Given the description of an element on the screen output the (x, y) to click on. 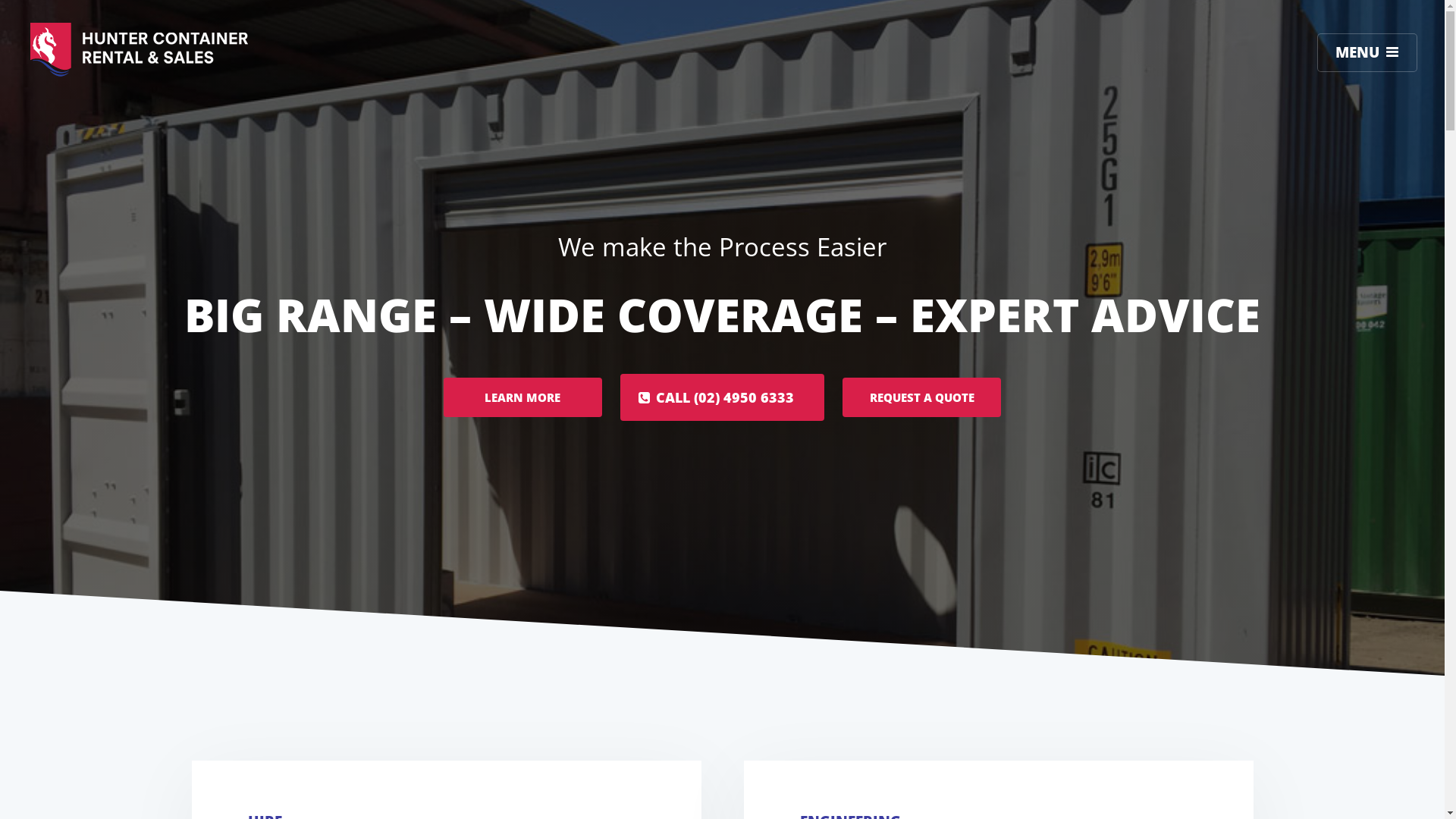
MENU Element type: text (1366, 52)
CALL (02) 4950 6333 Element type: text (722, 396)
LEARN MORE Element type: text (522, 397)
REQUEST A QUOTE Element type: text (921, 397)
